Given the description of an element on the screen output the (x, y) to click on. 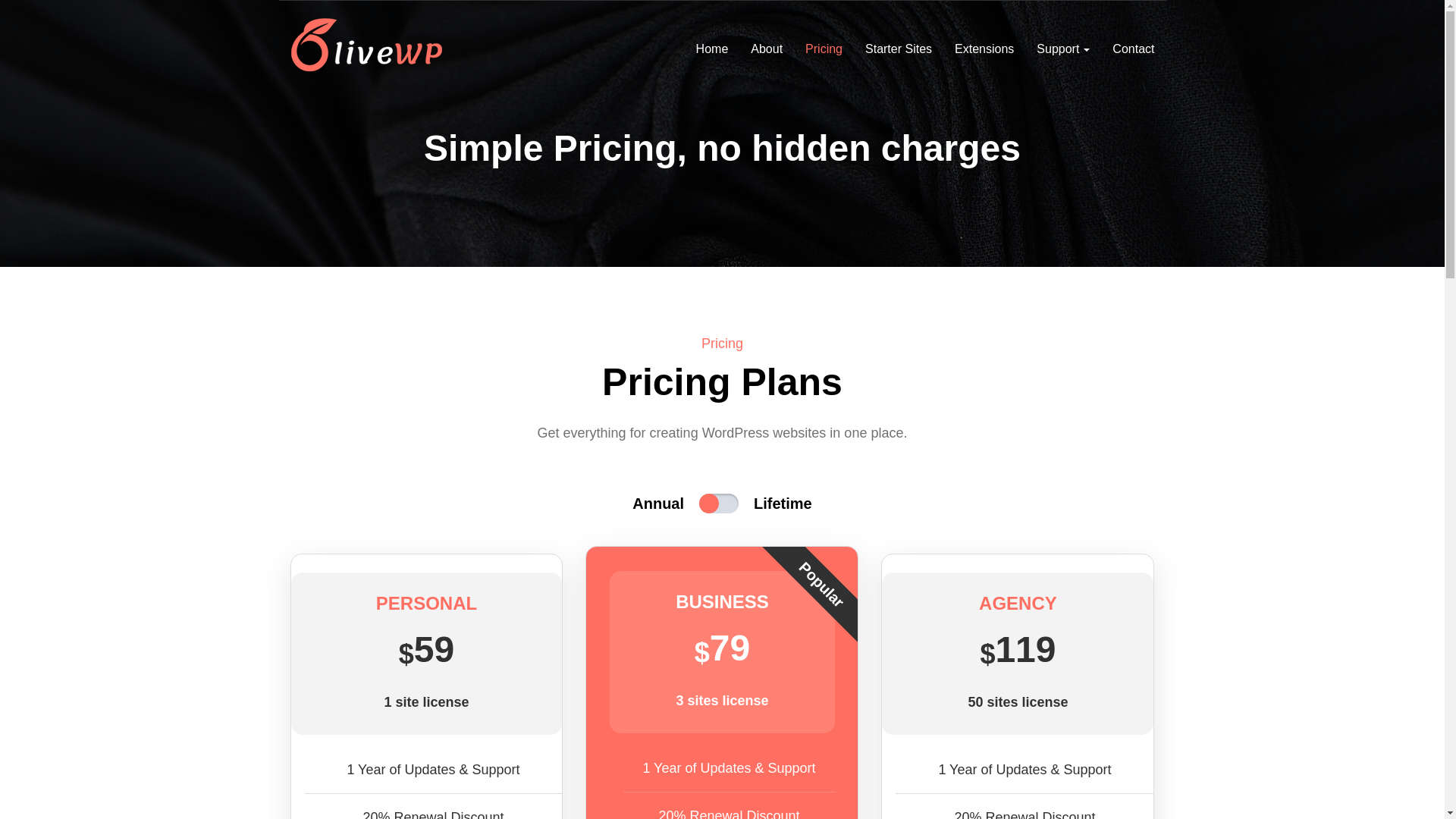
Logo (366, 44)
Contact (1133, 46)
Starter Sites (898, 46)
Support (1062, 46)
Extensions (984, 46)
